Given the description of an element on the screen output the (x, y) to click on. 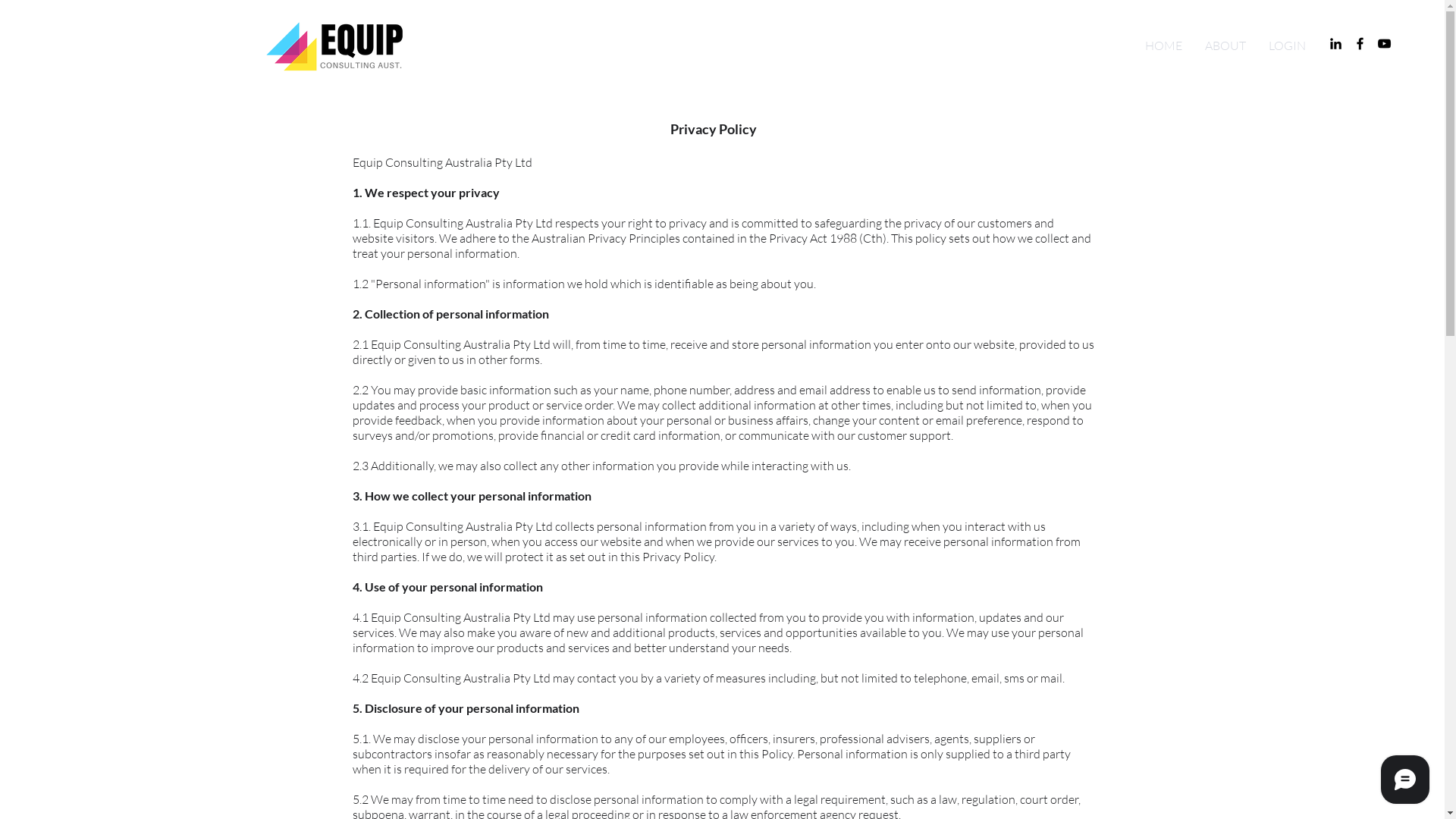
LOGIN Element type: text (1287, 45)
ABOUT Element type: text (1225, 45)
HOME Element type: text (1163, 45)
